Given the description of an element on the screen output the (x, y) to click on. 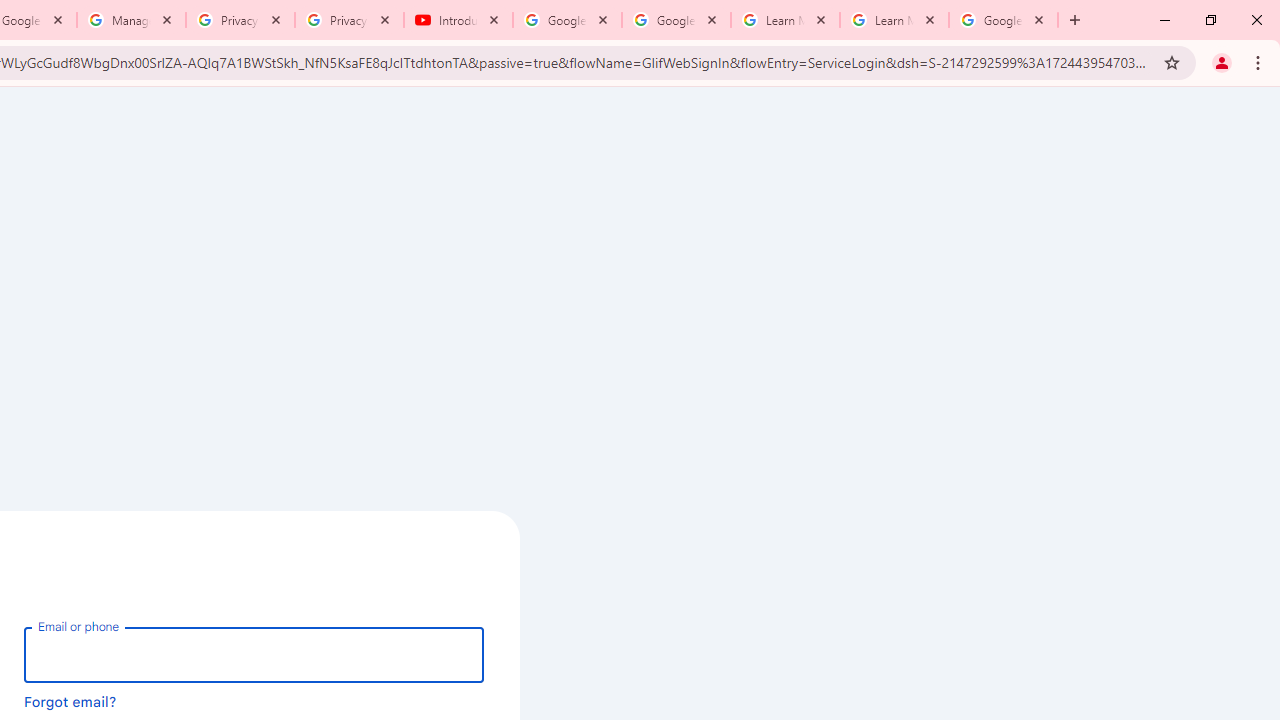
Google Account Help (567, 20)
